Given the description of an element on the screen output the (x, y) to click on. 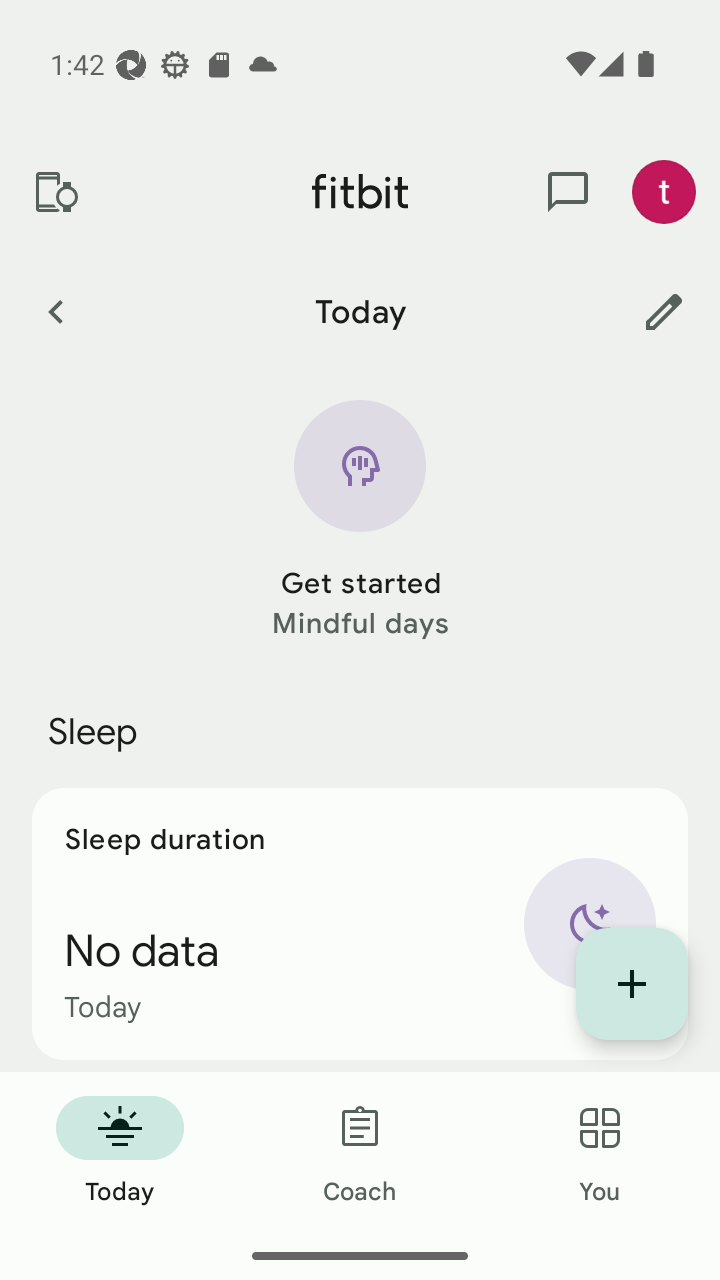
Devices and apps (55, 191)
messages and notifications (567, 191)
Previous Day (55, 311)
Customize (664, 311)
Mindfulness icon Get started Mindful days (360, 521)
Sleep duration No data Today Sleep static arc (359, 923)
Display list of quick log entries (632, 983)
Coach (359, 1151)
You (600, 1151)
